Given the description of an element on the screen output the (x, y) to click on. 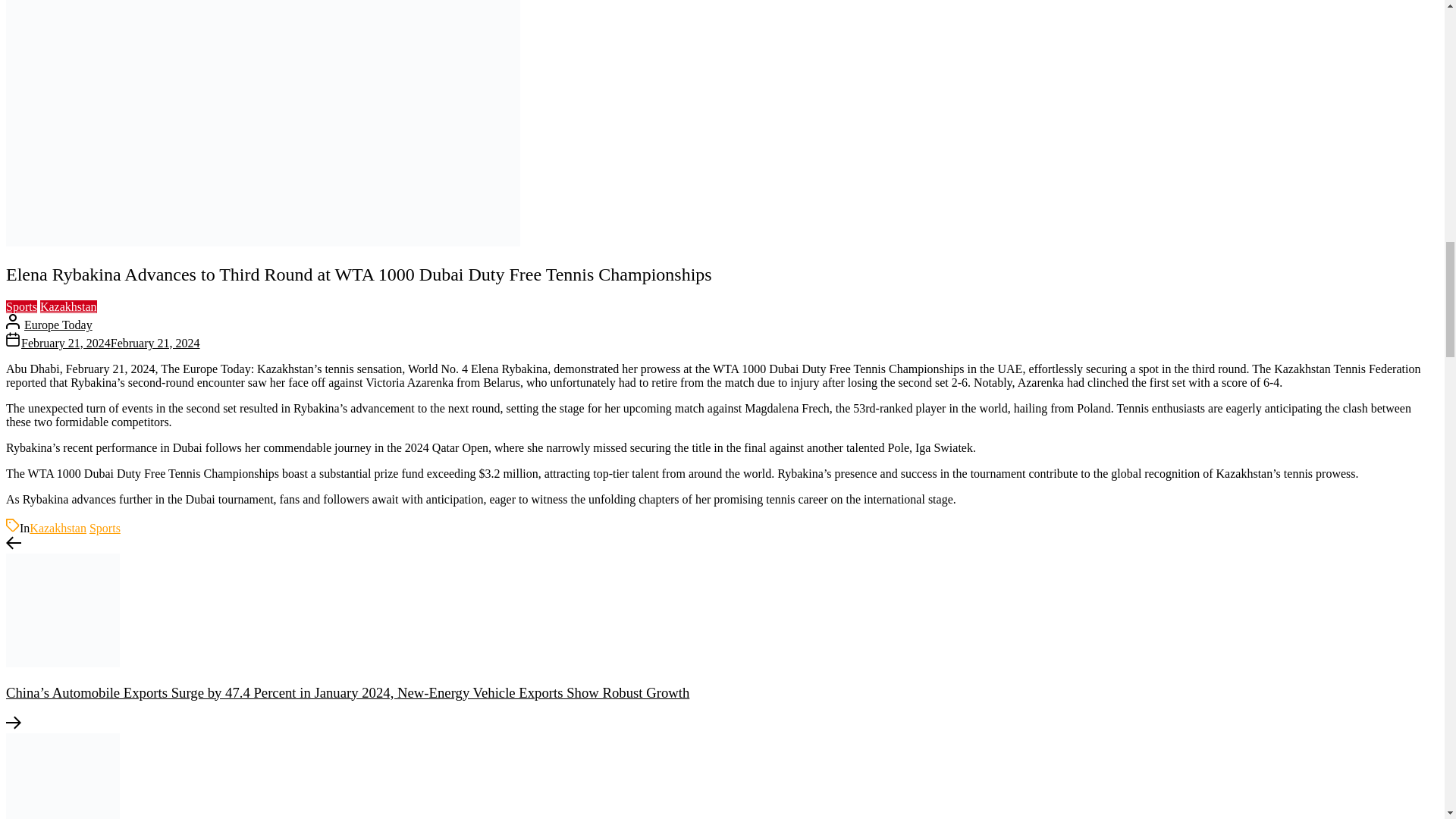
Pakistan, Azerbaijan Relations 5 (62, 776)
